Given the description of an element on the screen output the (x, y) to click on. 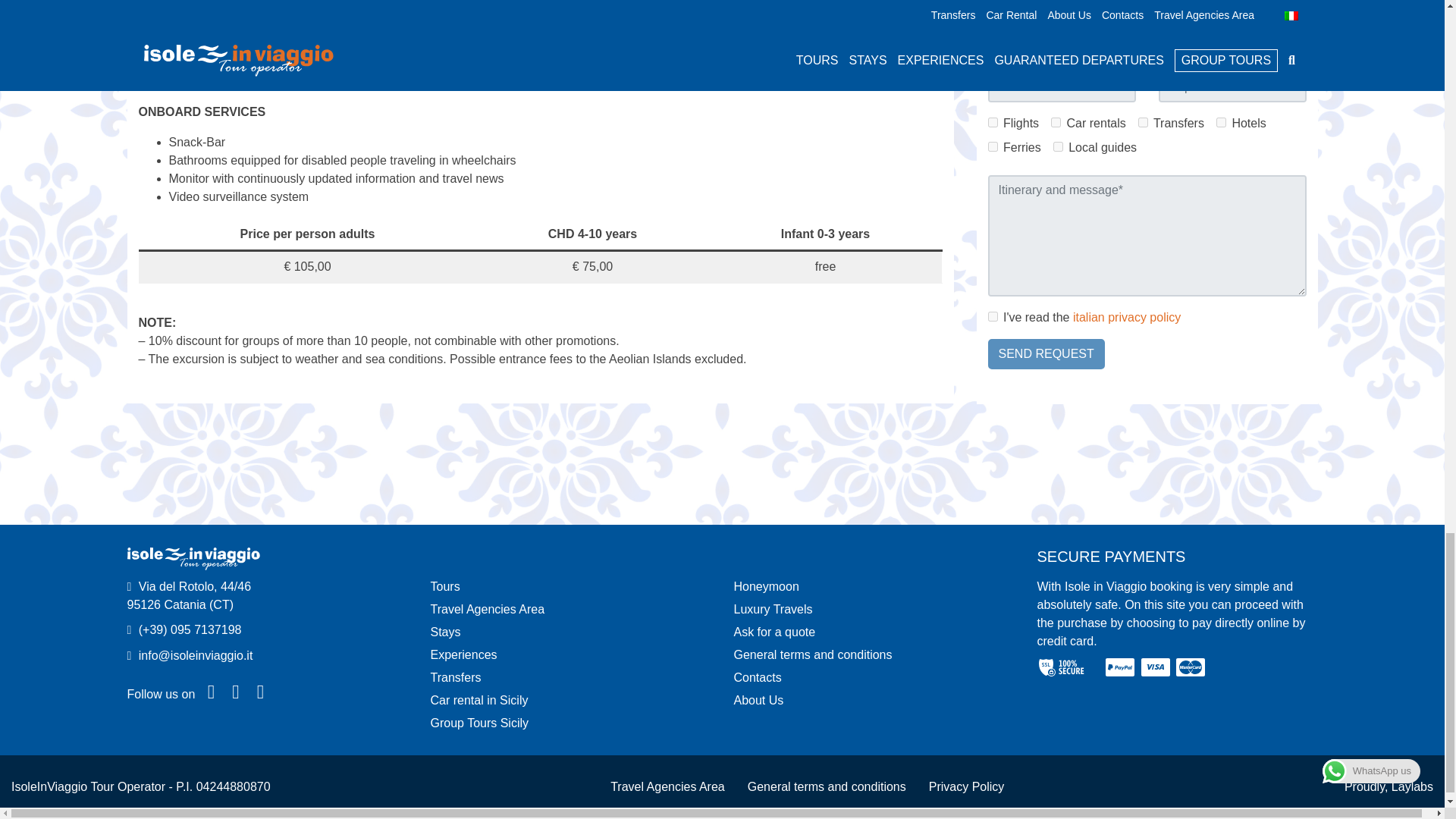
IsoleInViaggio (194, 558)
